Given the description of an element on the screen output the (x, y) to click on. 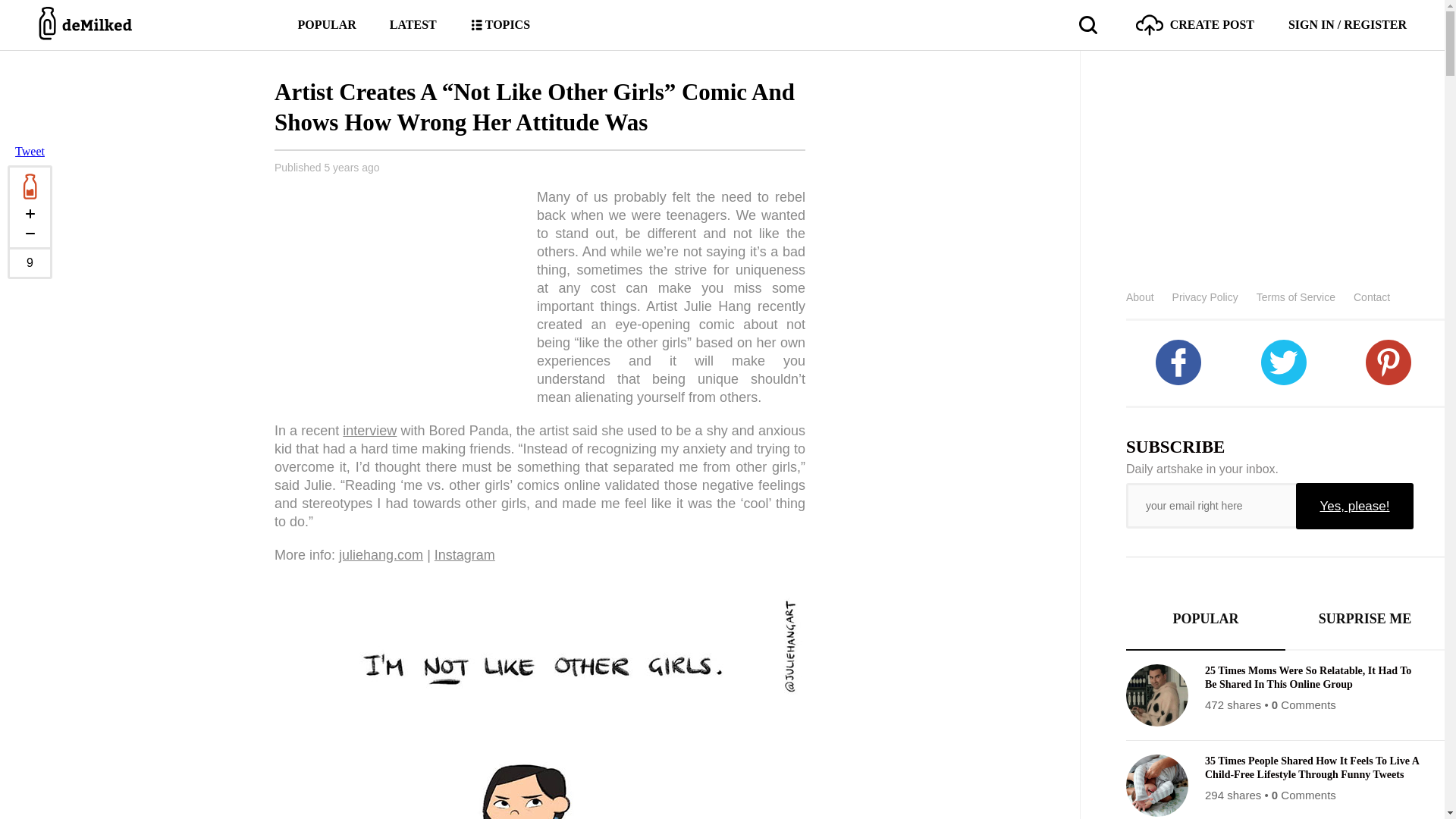
CREATE POST (1194, 24)
TOPICS (499, 24)
POPULAR (326, 24)
LATEST (413, 24)
